Given the description of an element on the screen output the (x, y) to click on. 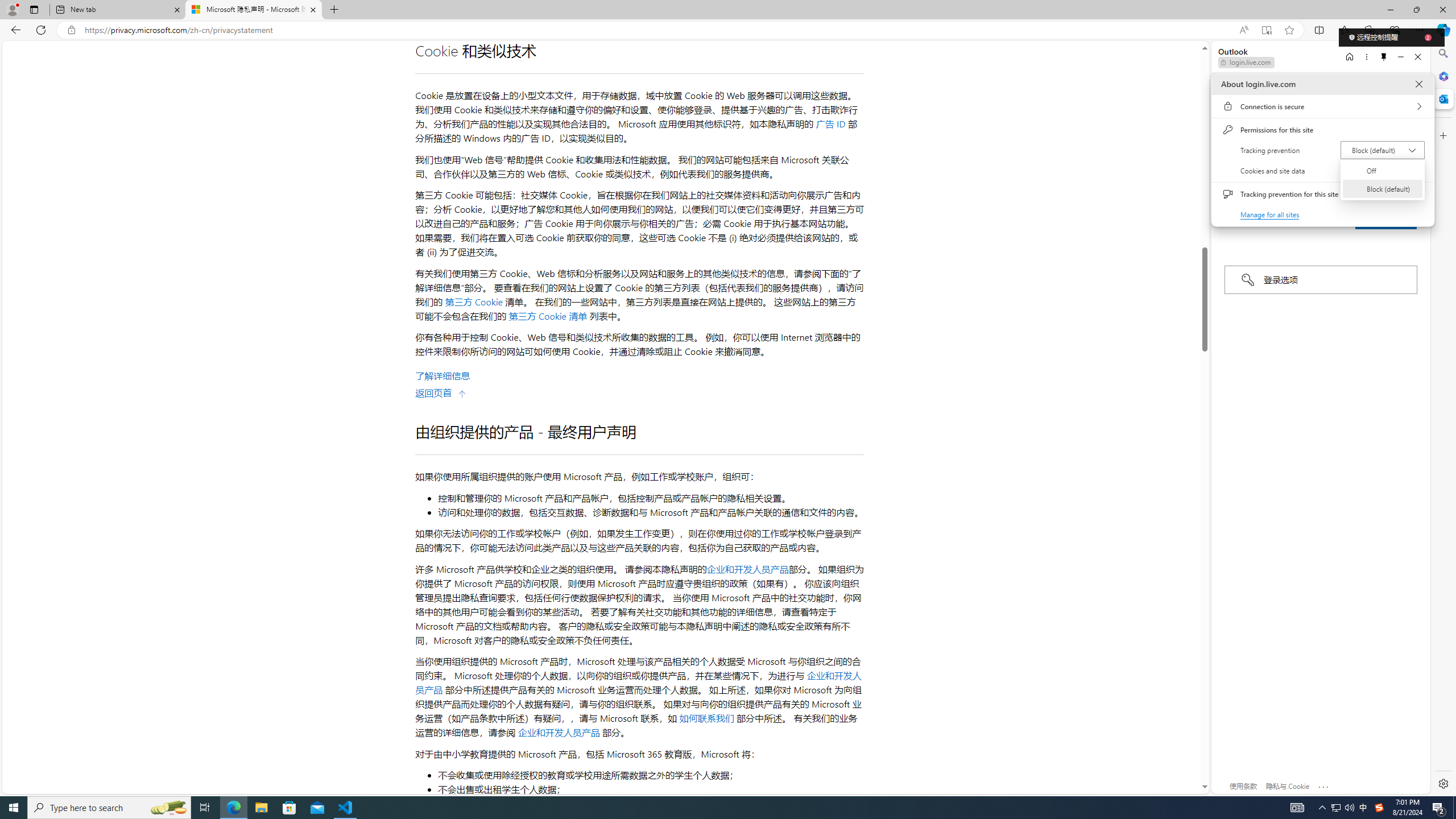
Connection is secure (1322, 105)
Notification Chevron (1322, 807)
AutomationID: 4105 (1297, 807)
About login.live.com (1418, 83)
Tracking prevention for this site (Balanced) (1413, 193)
Cookies and site data (1322, 170)
Action Center, 2 new notifications (1439, 807)
Show desktop (1454, 807)
Running applications (707, 807)
Permissions for this site (1322, 129)
User Promoted Notification Area (1342, 807)
File Explorer (261, 807)
Visual Studio Code - 1 running window (345, 807)
Off (1382, 170)
